Given the description of an element on the screen output the (x, y) to click on. 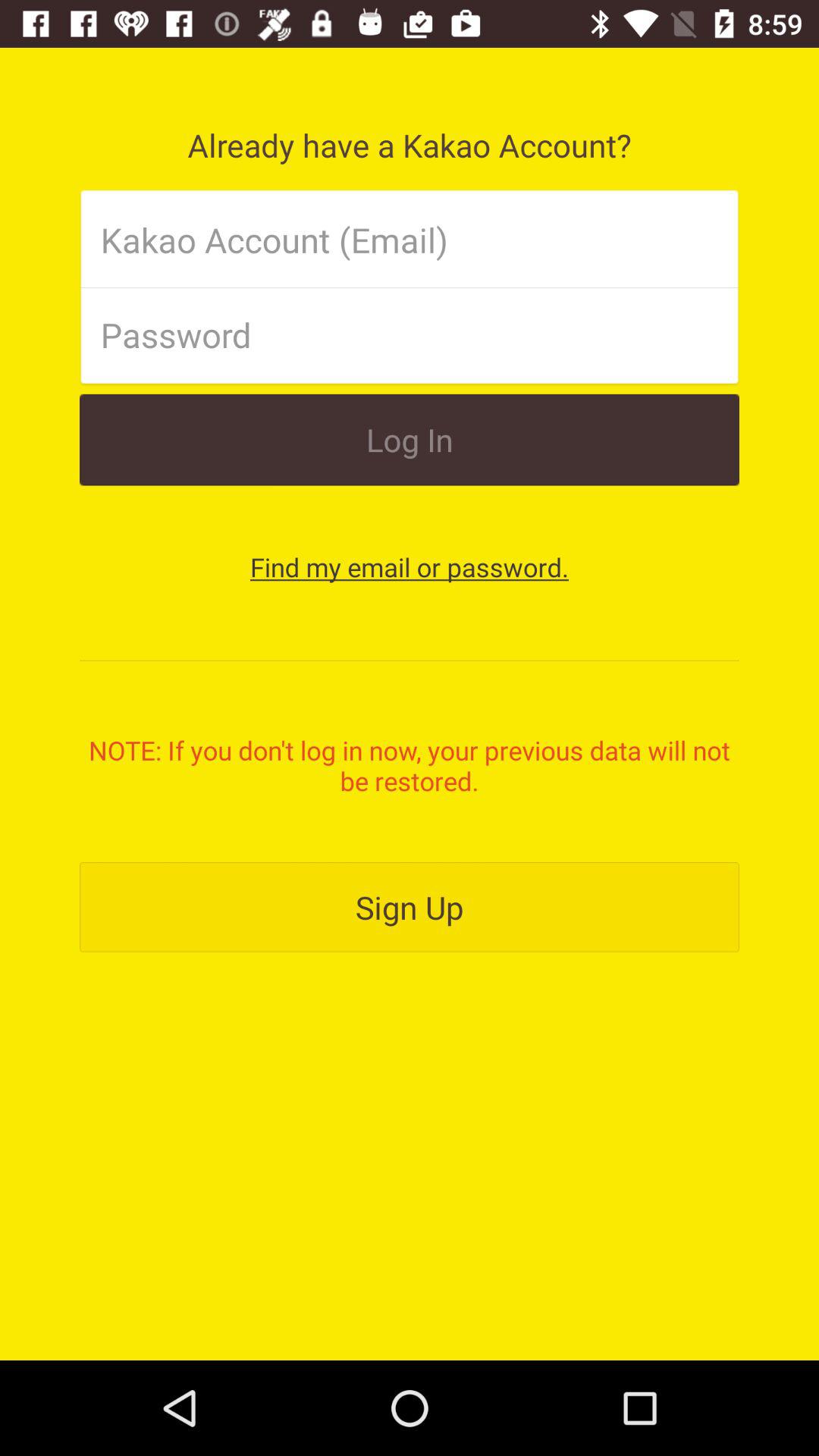
tap the button below log in (409, 566)
